Given the description of an element on the screen output the (x, y) to click on. 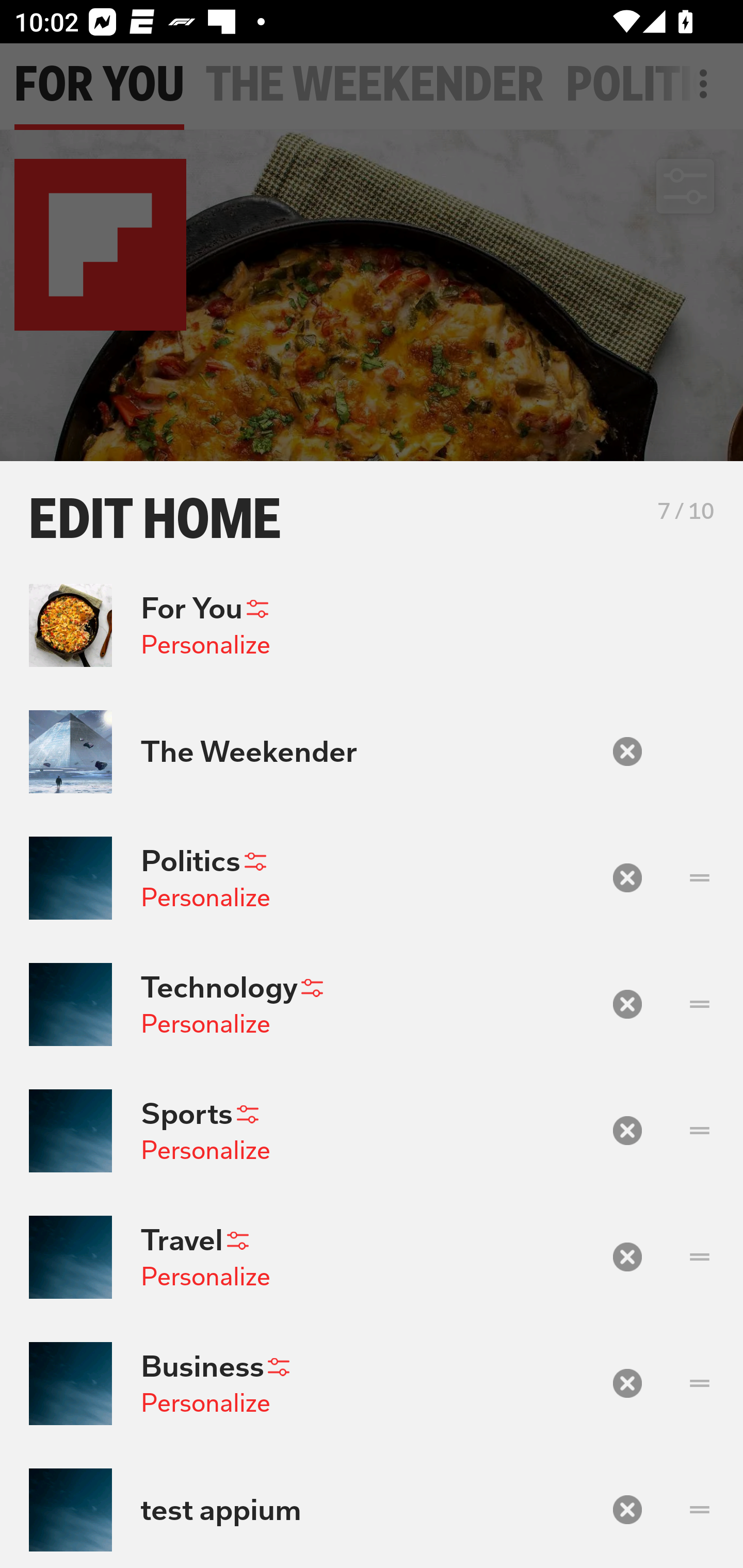
Personalize (205, 644)
Personalize (205, 897)
Personalize (205, 1023)
Personalize (205, 1149)
Personalize (205, 1276)
Personalize (205, 1403)
